Given the description of an element on the screen output the (x, y) to click on. 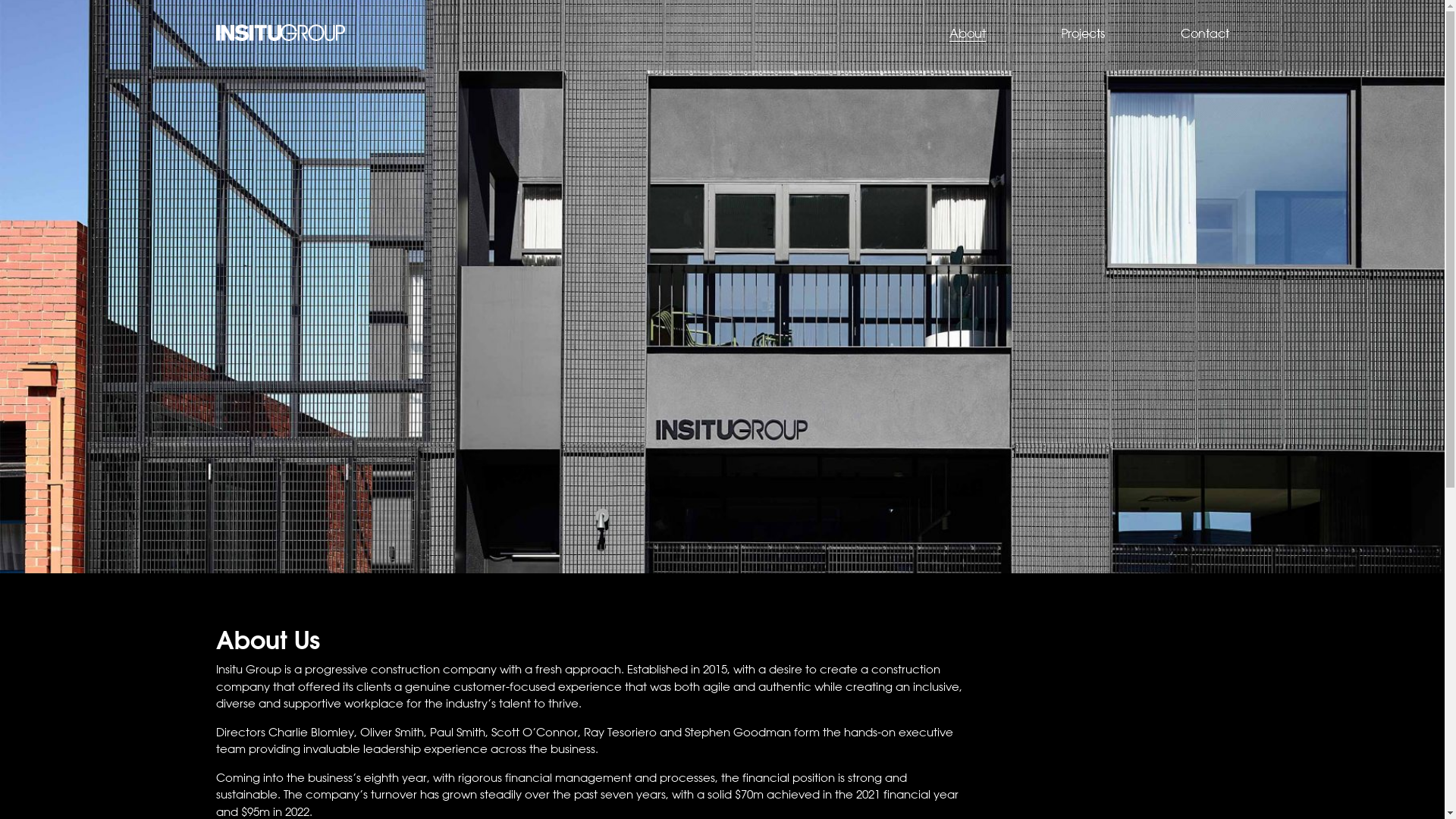
Projects Element type: text (1082, 33)
About Element type: text (967, 33)
Contact Element type: text (1203, 33)
